Given the description of an element on the screen output the (x, y) to click on. 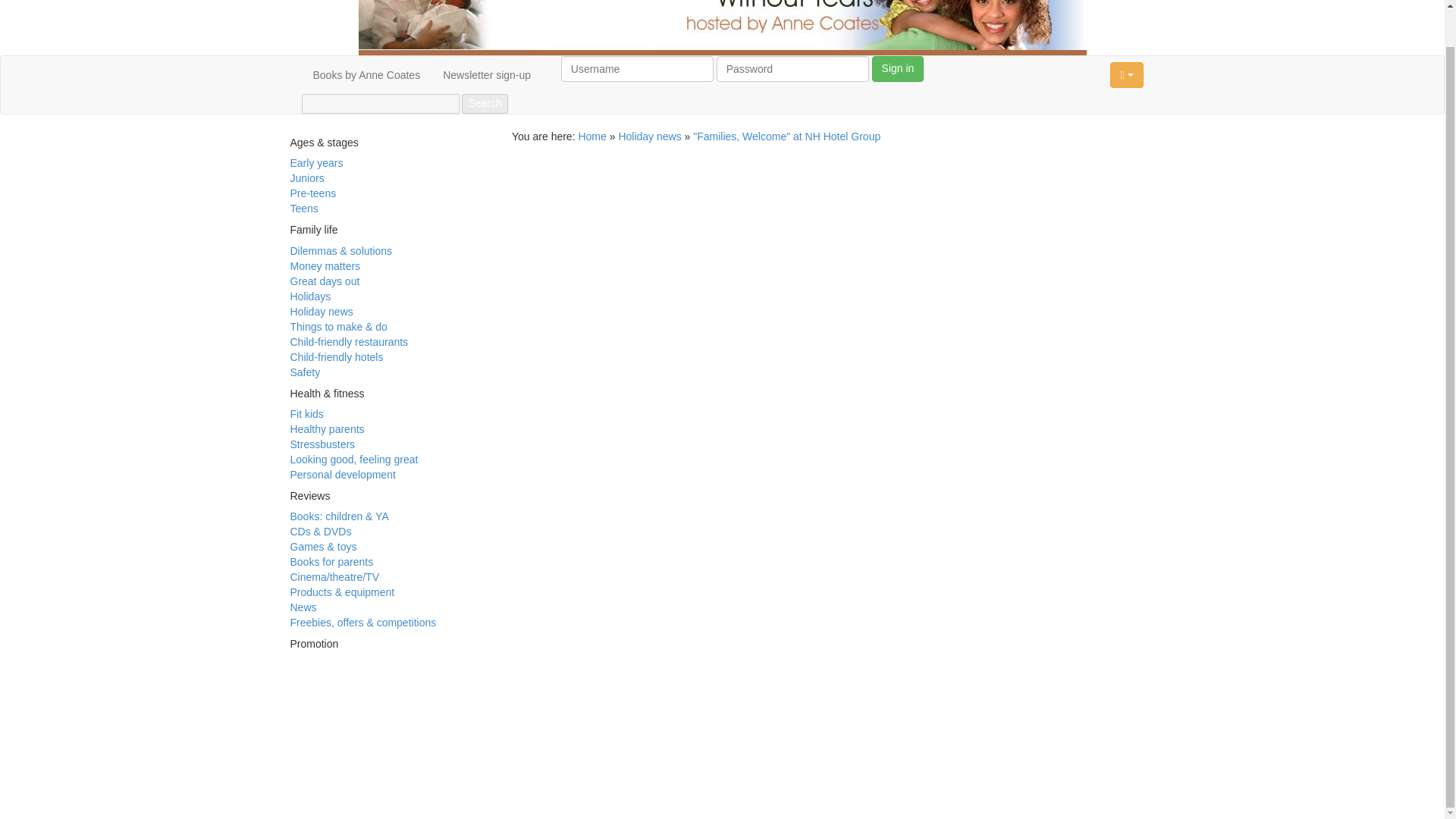
Search (483, 103)
Juniors (306, 177)
Great days out (324, 281)
"Families, Welcome" at NH Hotel Group (786, 136)
Search (483, 103)
Holiday news (649, 136)
Safety (304, 372)
Books for parents (330, 562)
Teens (303, 208)
Child-friendly hotels (335, 357)
